Given the description of an element on the screen output the (x, y) to click on. 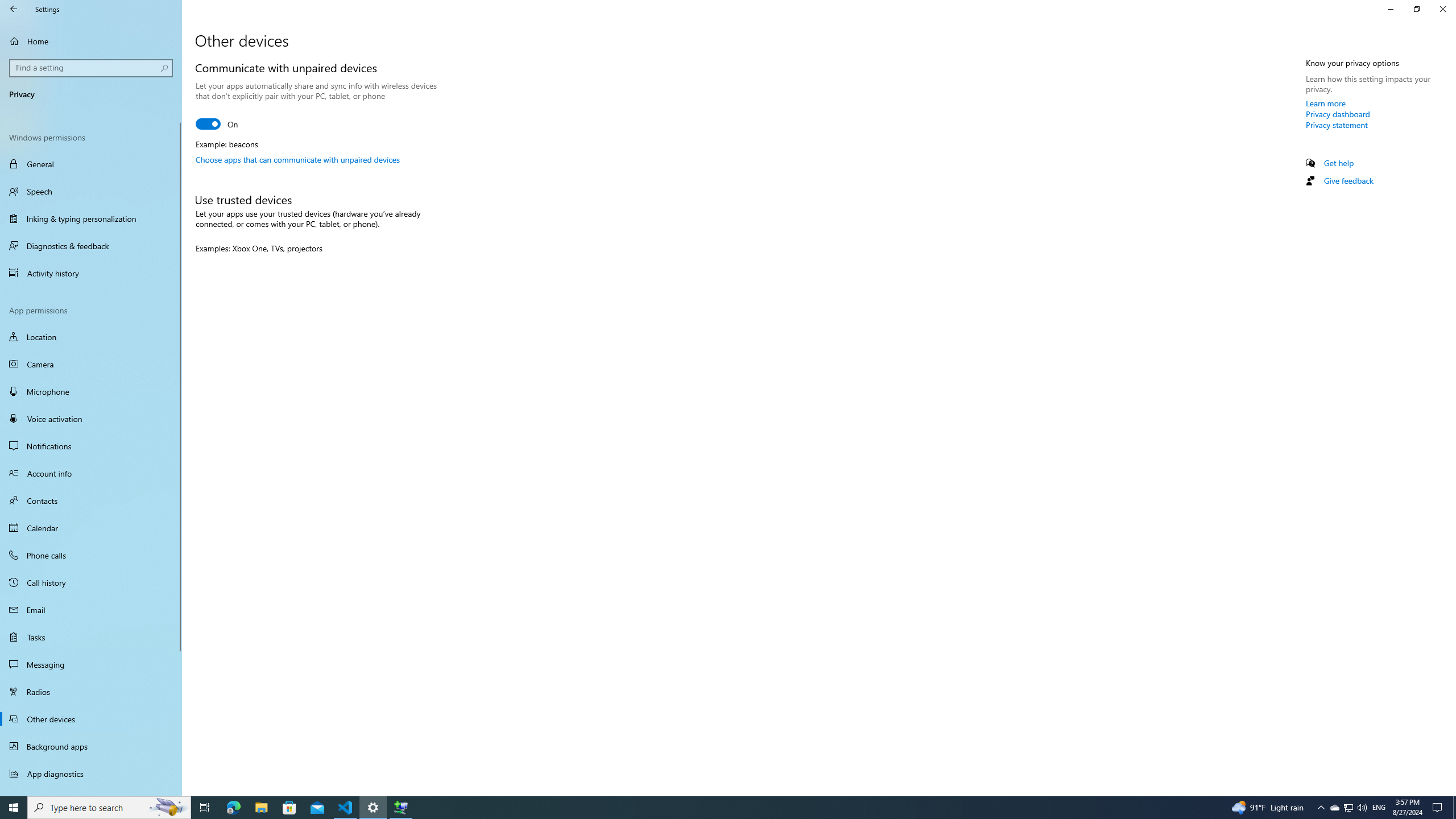
Close Settings (1442, 9)
Tasks (91, 636)
Notifications (91, 445)
Background apps (91, 746)
Microphone (91, 390)
Get help (1338, 162)
Location (91, 336)
Search box, Find a setting (91, 67)
